Given the description of an element on the screen output the (x, y) to click on. 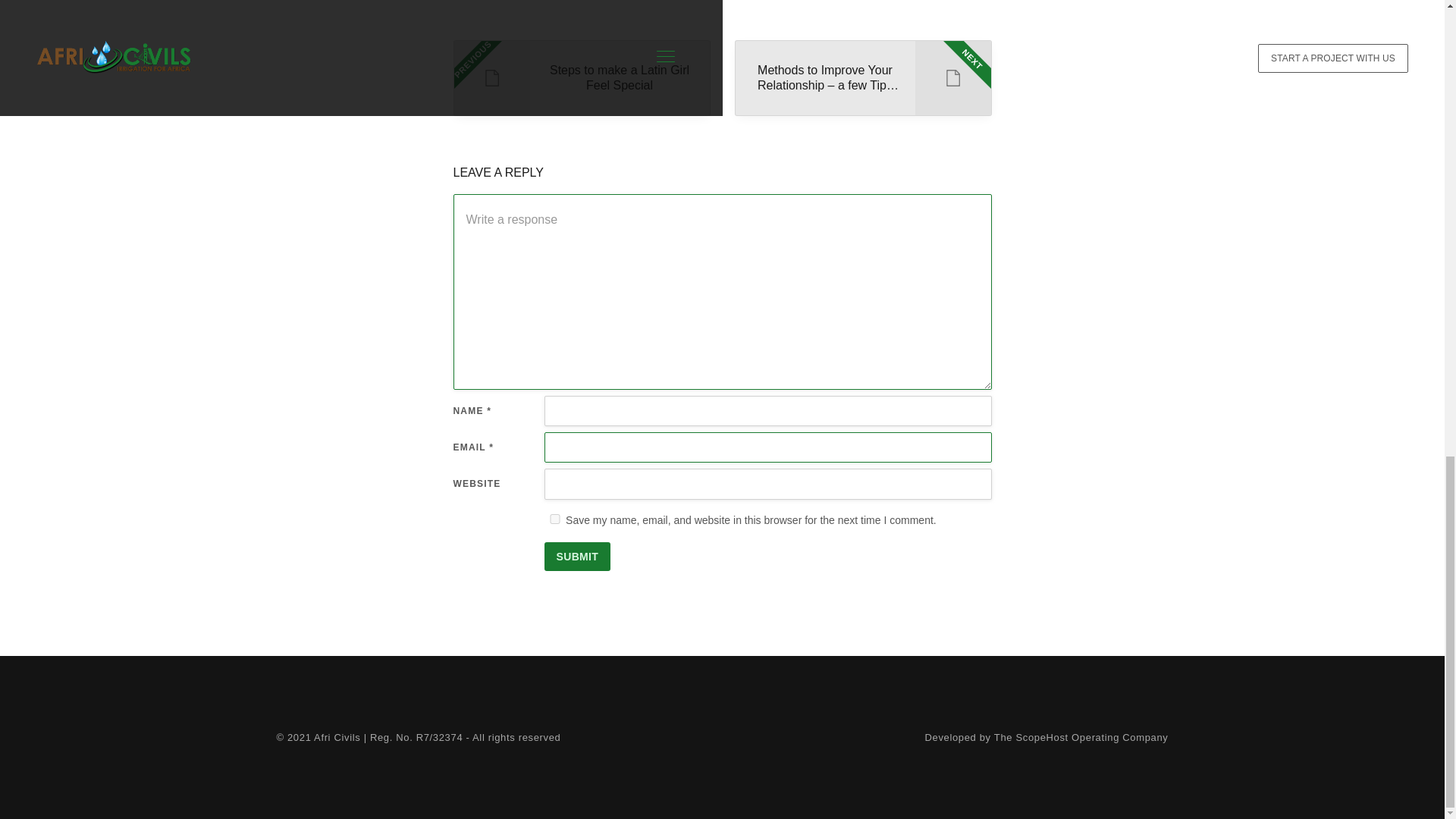
yes (555, 519)
Submit (577, 556)
Submit (581, 78)
Developed by The ScopeHost Operating Company (577, 556)
